Given the description of an element on the screen output the (x, y) to click on. 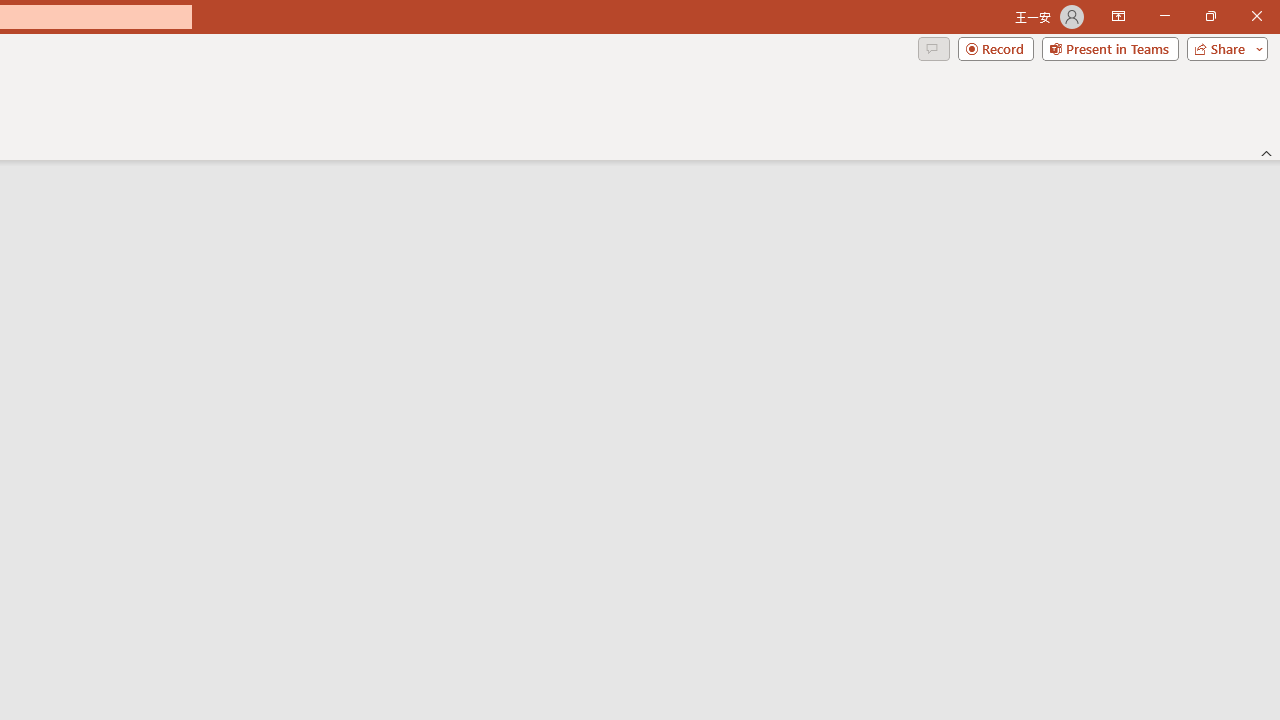
Close (1256, 16)
Present in Teams (1109, 48)
Record (995, 48)
Restore Down (1210, 16)
Minimize (1164, 16)
Share (1223, 48)
Collapse the Ribbon (1267, 152)
Comments (933, 48)
Ribbon Display Options (1118, 16)
